Given the description of an element on the screen output the (x, y) to click on. 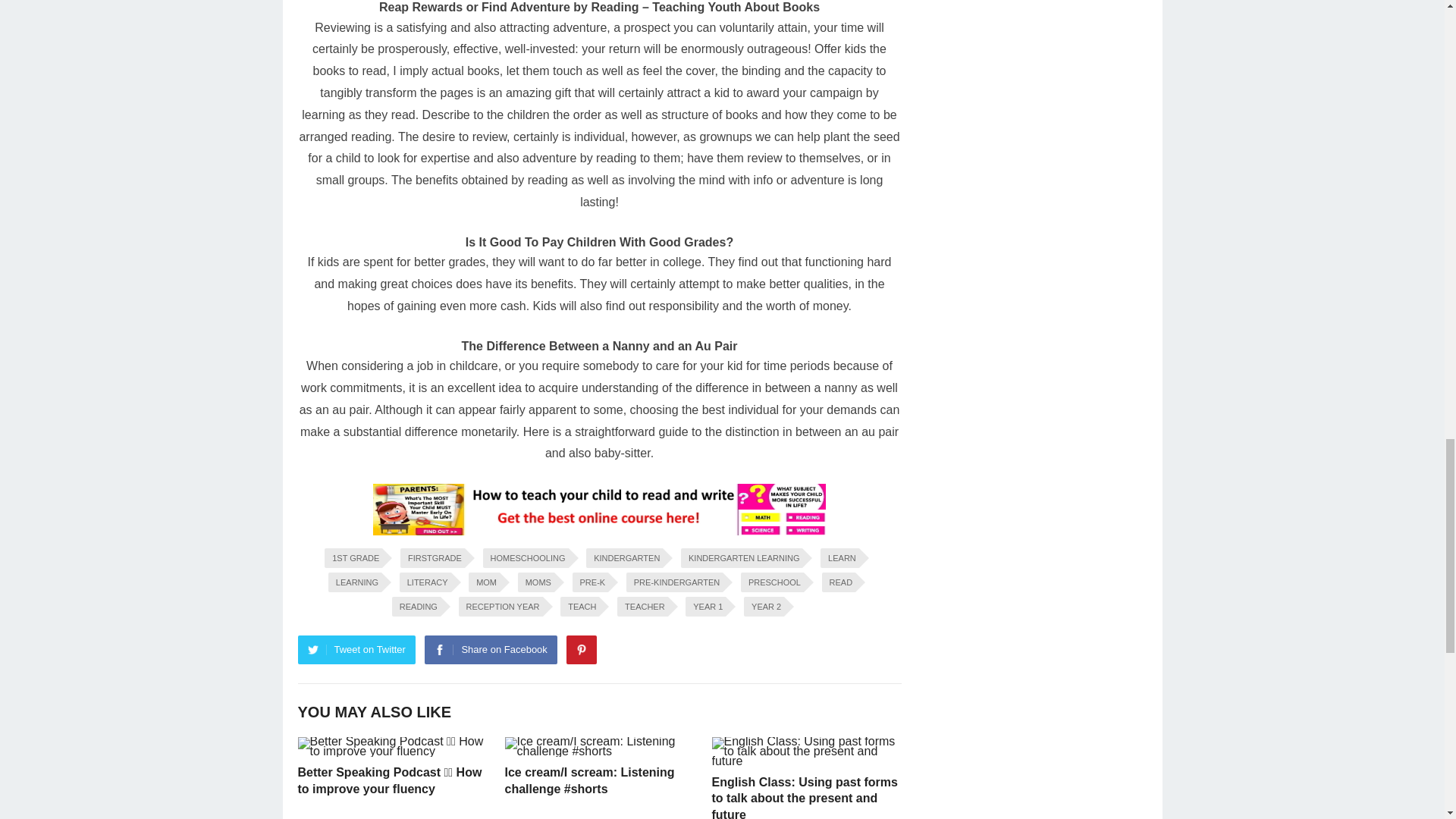
MOMS (536, 582)
KINDERGARTEN LEARNING (742, 557)
LEARN (840, 557)
LITERACY (424, 582)
KINDERGARTEN (624, 557)
FIRSTGRADE (432, 557)
PRE-KINDERGARTEN (674, 582)
MOM (483, 582)
1ST GRADE (352, 557)
